Given the description of an element on the screen output the (x, y) to click on. 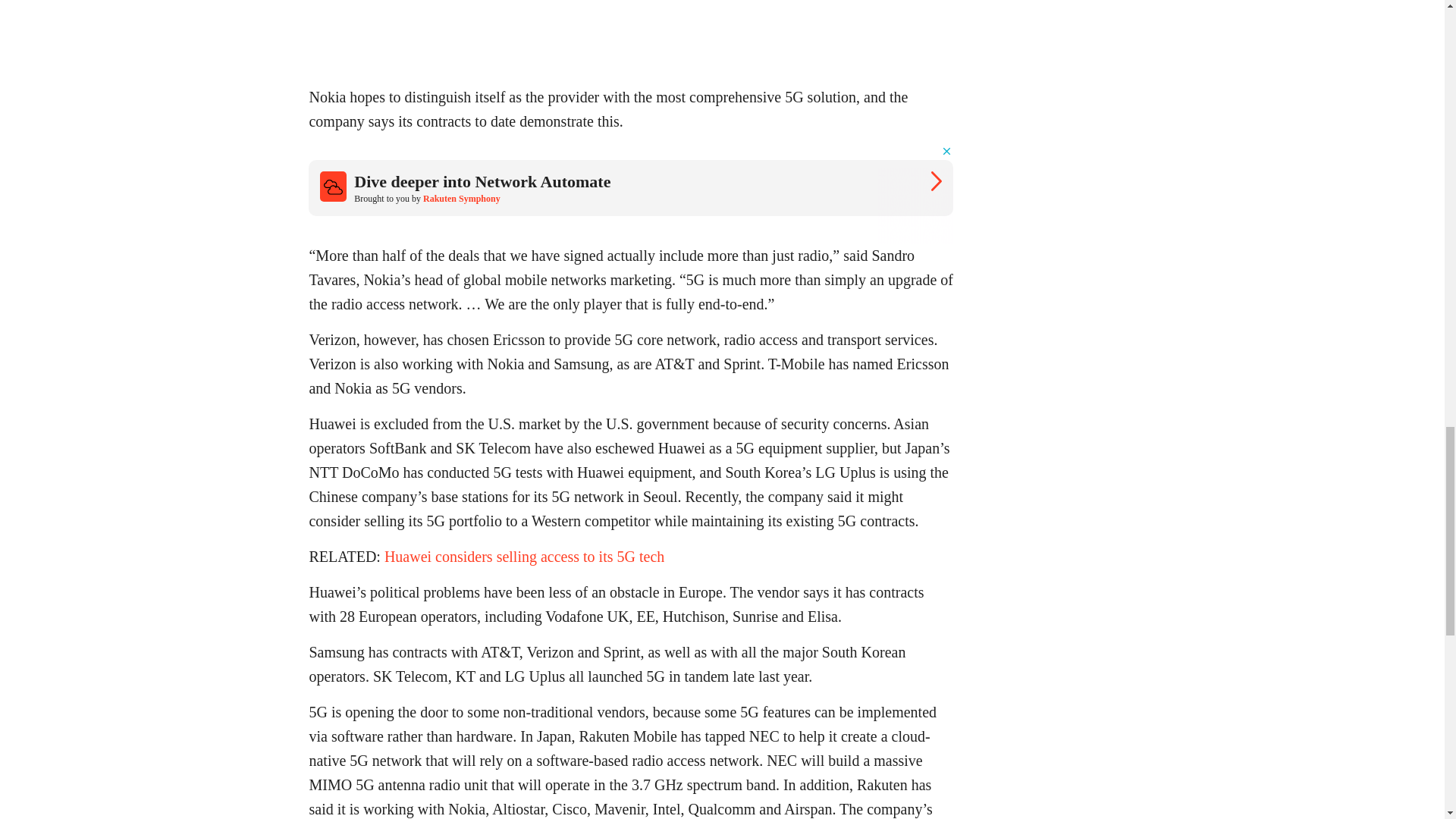
3rd party ad content (630, 193)
